Given the description of an element on the screen output the (x, y) to click on. 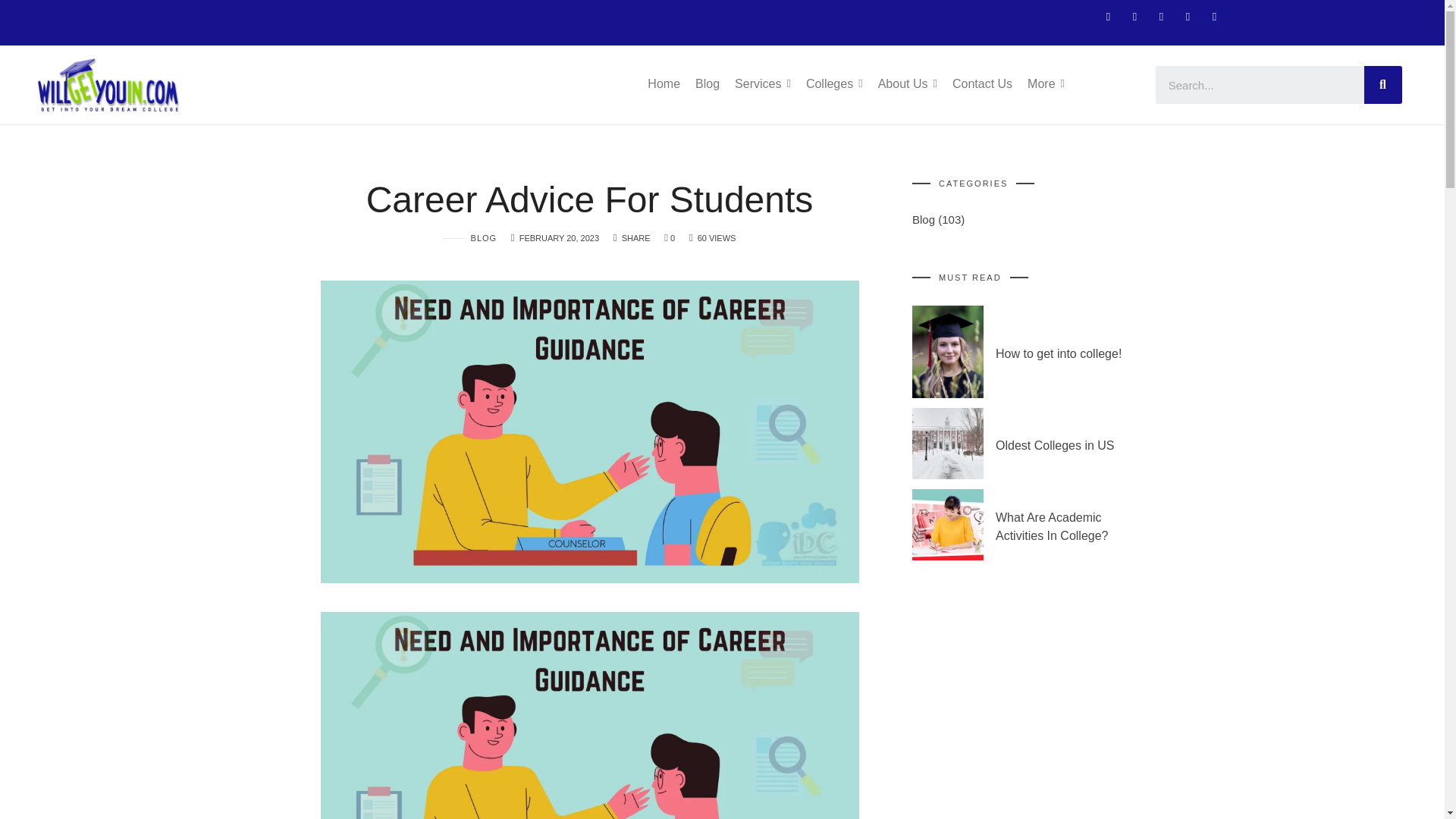
Search (1260, 85)
About Us (907, 83)
Home (663, 83)
Oldest Colleges in US (946, 443)
Contact Us (981, 83)
Search (1383, 85)
Colleges (834, 83)
Services (762, 83)
More (1045, 83)
